Given the description of an element on the screen output the (x, y) to click on. 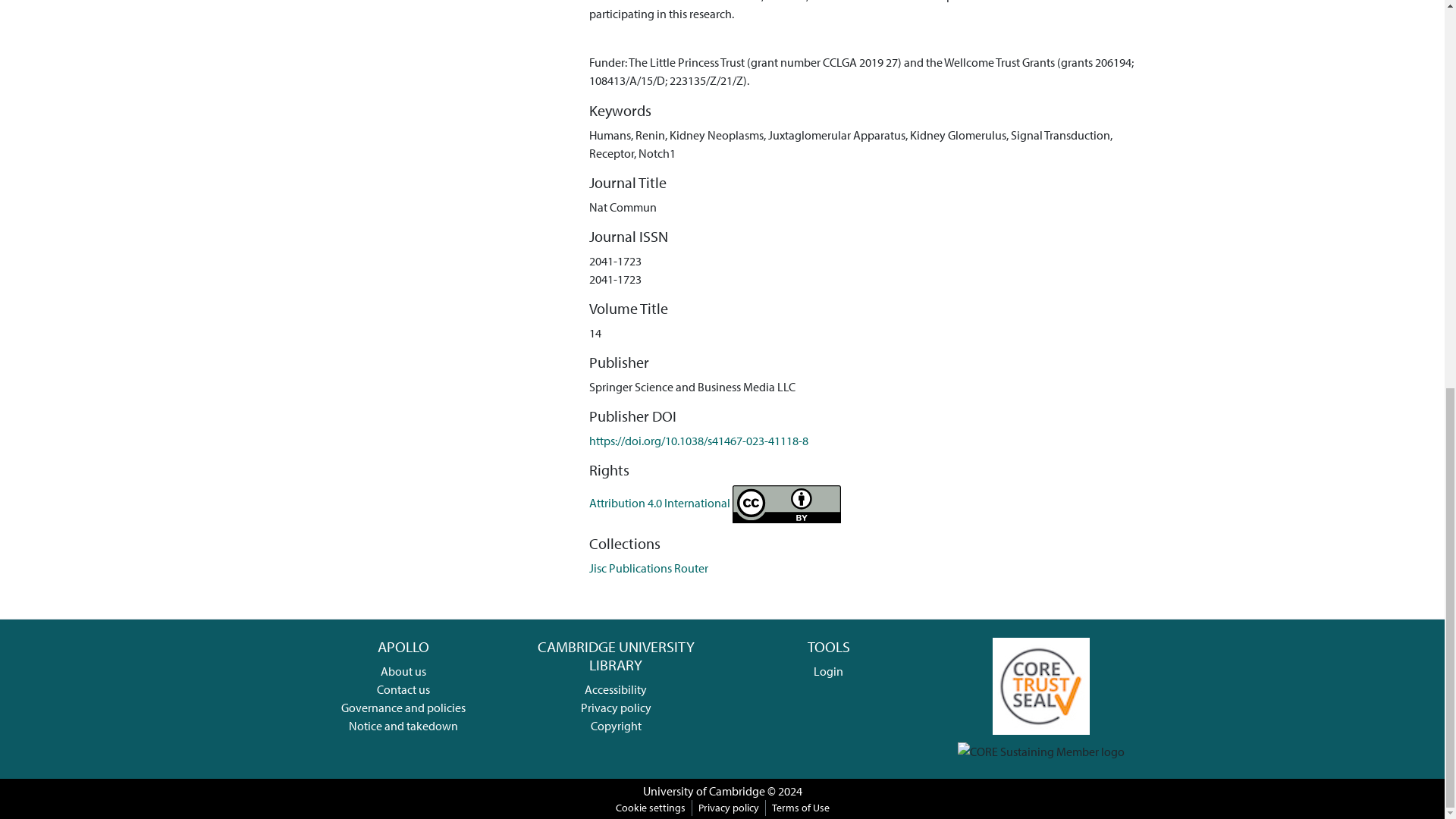
Jisc Publications Router (648, 567)
Contact us (403, 688)
Apollo CTS full application (1040, 684)
Attribution 4.0 International (715, 502)
About us (403, 670)
